Given the description of an element on the screen output the (x, y) to click on. 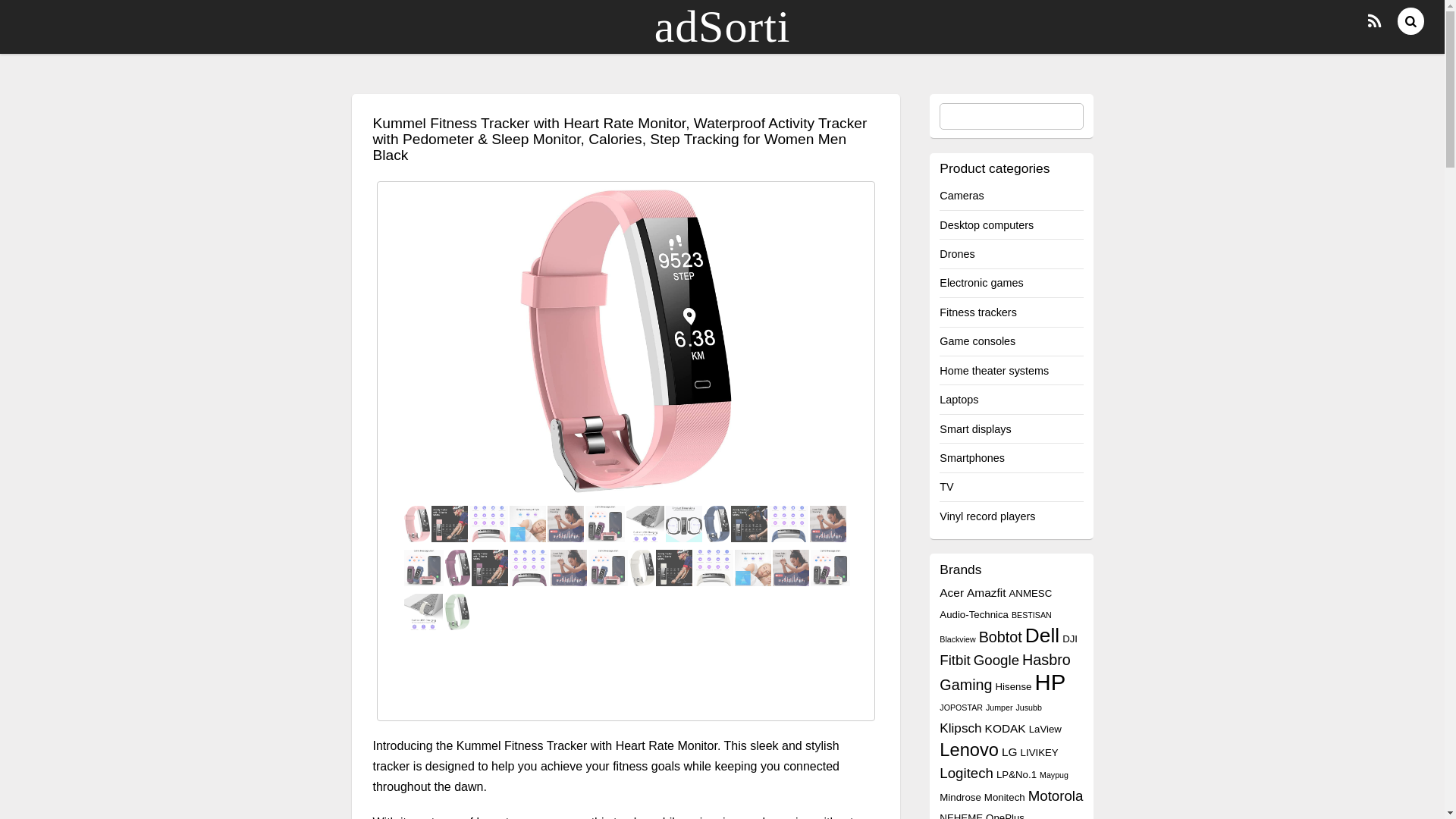
adSorti (721, 26)
Search (1011, 116)
adSorti (721, 26)
